Given the description of an element on the screen output the (x, y) to click on. 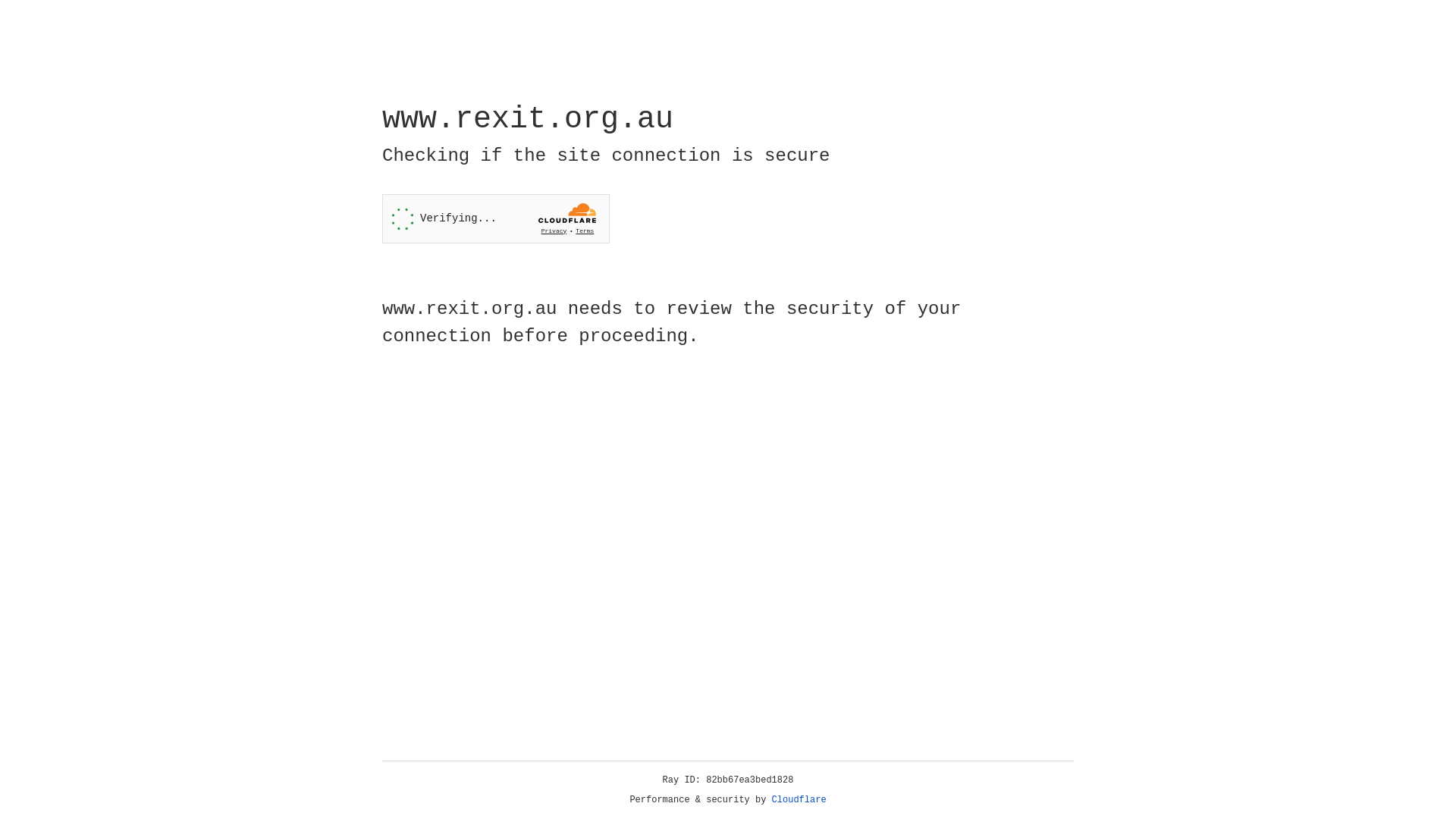
Widget containing a Cloudflare security challenge Element type: hover (495, 218)
Cloudflare Element type: text (798, 799)
